Given the description of an element on the screen output the (x, y) to click on. 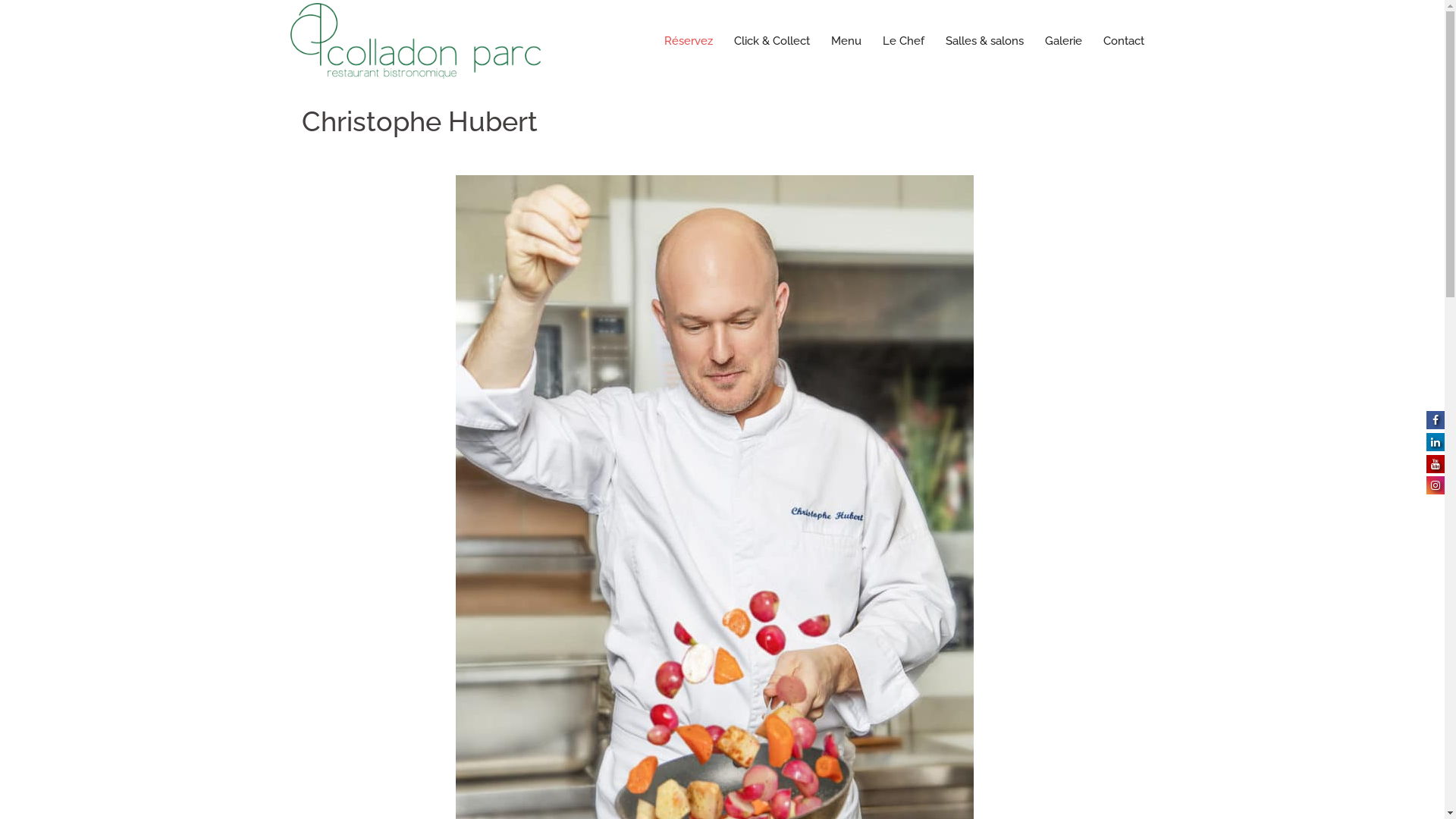
Menu Element type: text (846, 40)
Click & Collect Element type: text (771, 40)
Galerie Element type: text (1063, 40)
Le Chef Element type: text (903, 40)
Contact Element type: text (1122, 40)
Salles & salons Element type: text (983, 40)
